Given the description of an element on the screen output the (x, y) to click on. 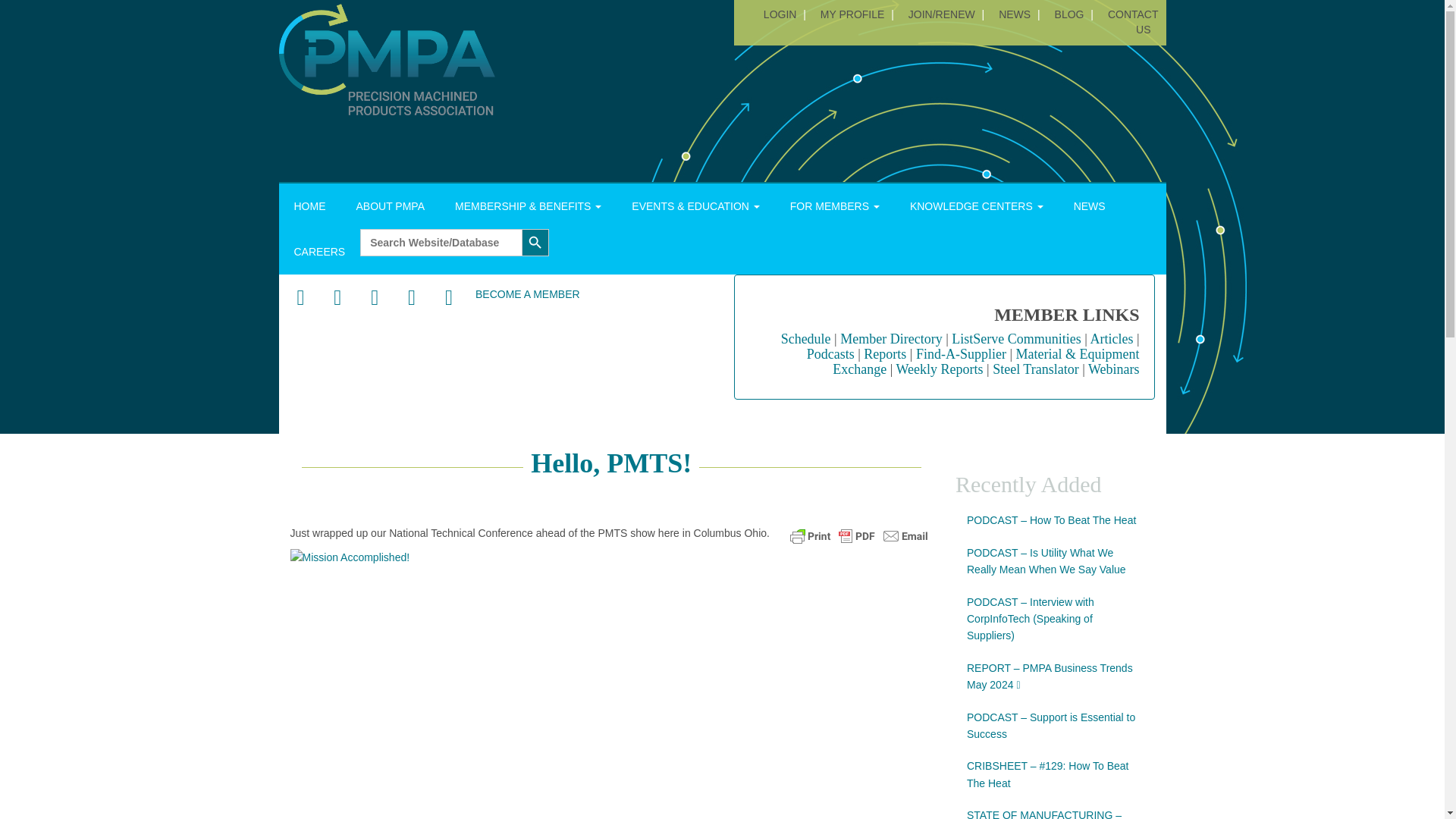
LOGIN (780, 14)
ABOUT PMPA (390, 206)
FOR MEMBERS (834, 206)
Facebook (300, 297)
LinkedIn (374, 297)
BLOG (1069, 14)
Twitter (336, 297)
CONTACT US (1130, 22)
HOME (309, 206)
MY PROFILE (852, 14)
Instagram (411, 297)
NEWS (1013, 14)
